Given the description of an element on the screen output the (x, y) to click on. 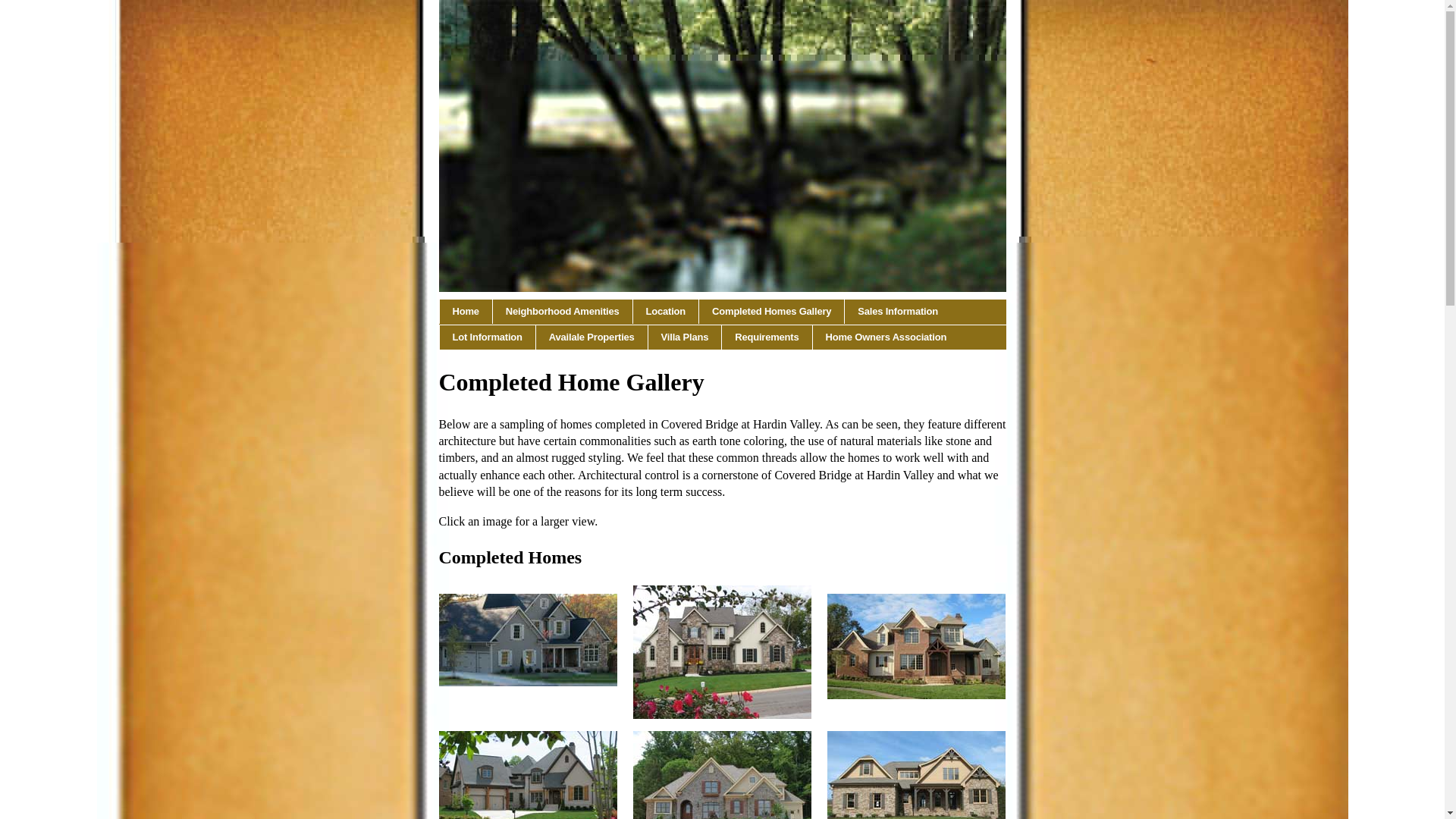
Home Owners Association (885, 337)
Lot Information (486, 337)
Completed Homes Gallery (771, 311)
Home (465, 311)
Availale Properties (591, 337)
Location (666, 311)
Sales Information (897, 311)
Villa Plans (684, 337)
Neighborhood Amenities (563, 311)
Requirements (767, 337)
